Given the description of an element on the screen output the (x, y) to click on. 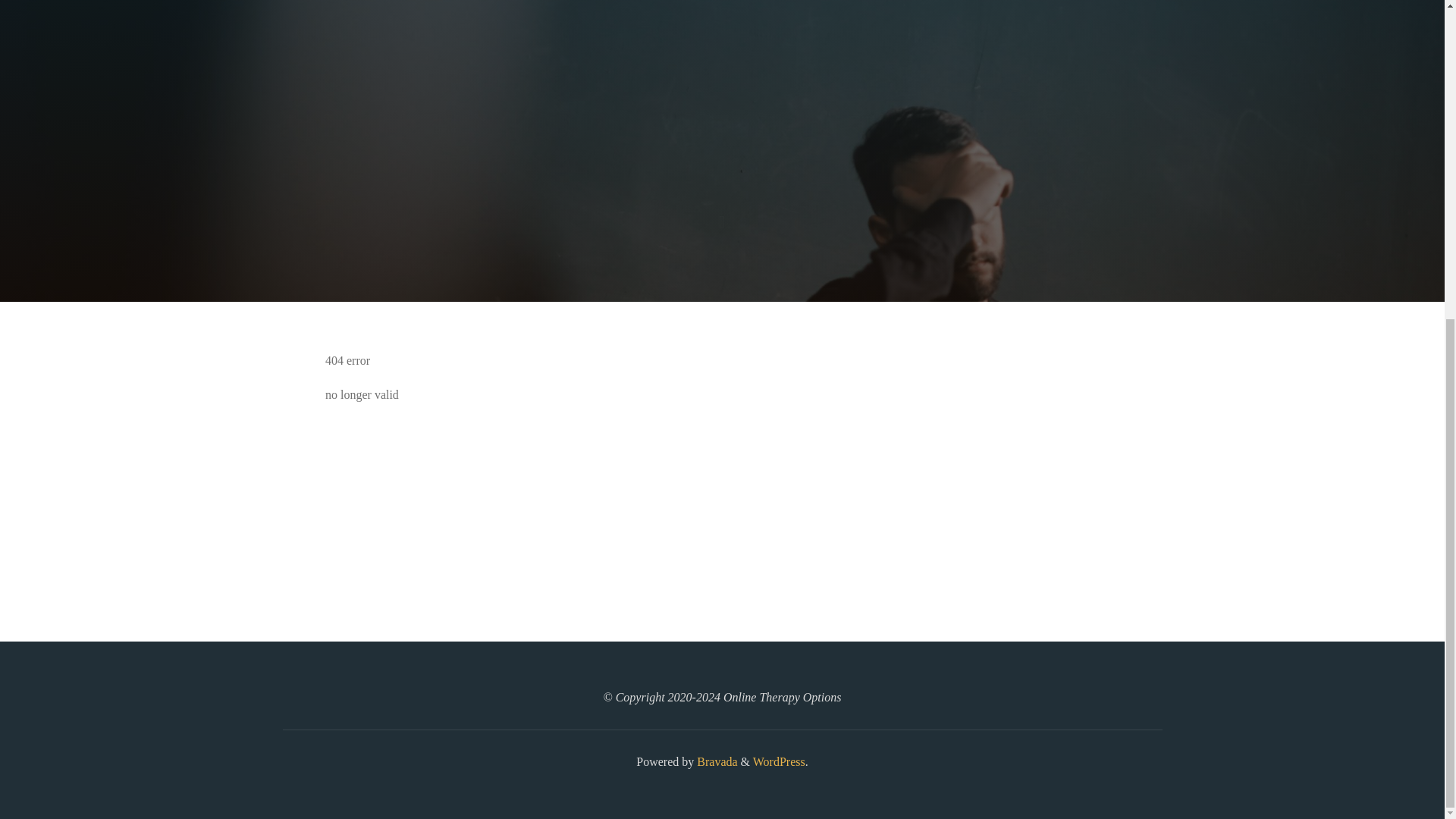
Bravada WordPress Theme by Cryout Creations (715, 761)
Semantic Personal Publishing Platform (778, 761)
Read more (721, 207)
Bravada (715, 761)
WordPress (778, 761)
